Given the description of an element on the screen output the (x, y) to click on. 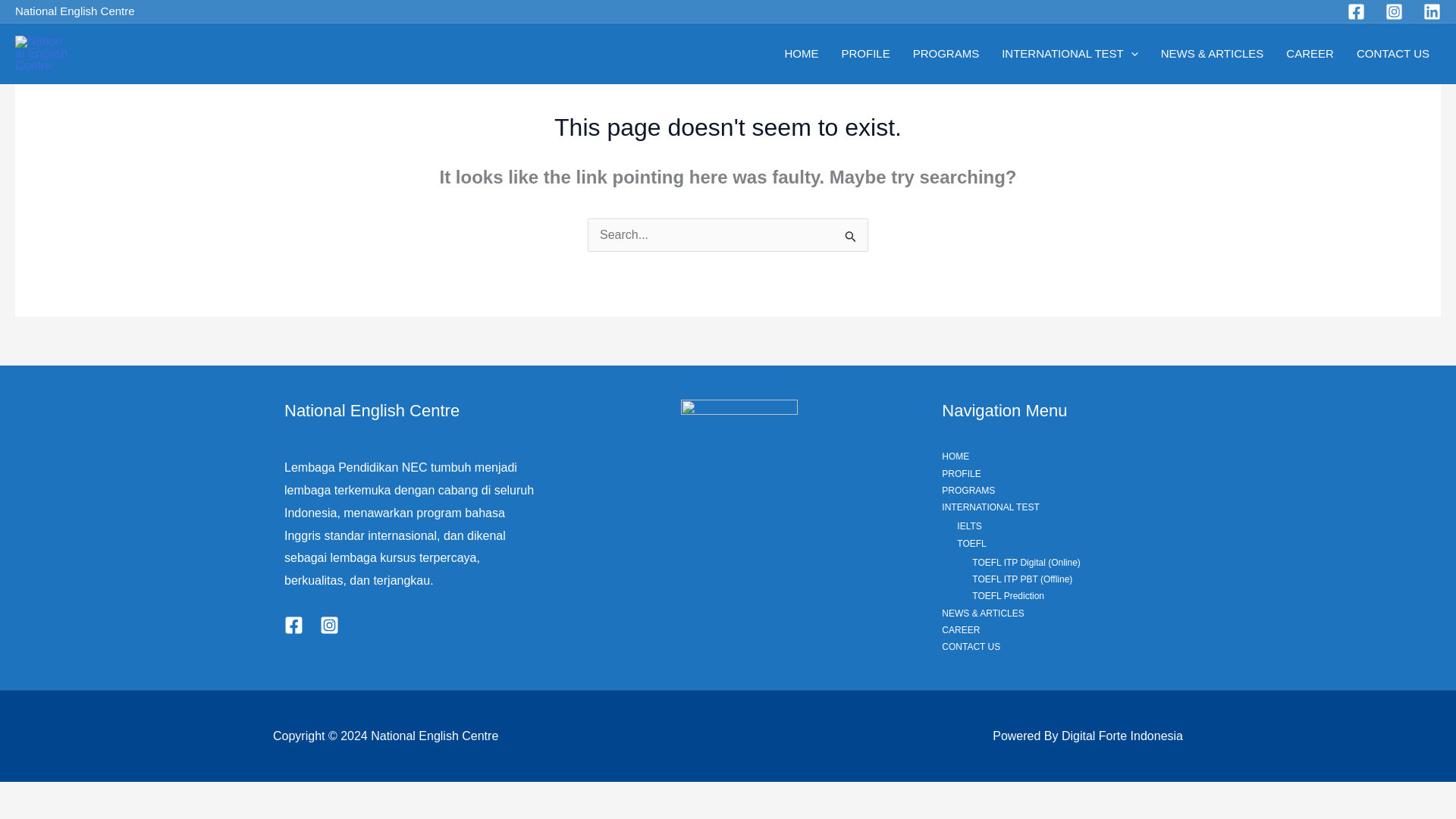
INTERNATIONAL TEST (1070, 53)
PROGRAMS (946, 53)
CONTACT US (1393, 53)
HOME (801, 53)
CAREER (1310, 53)
PROFILE (865, 53)
